Given the description of an element on the screen output the (x, y) to click on. 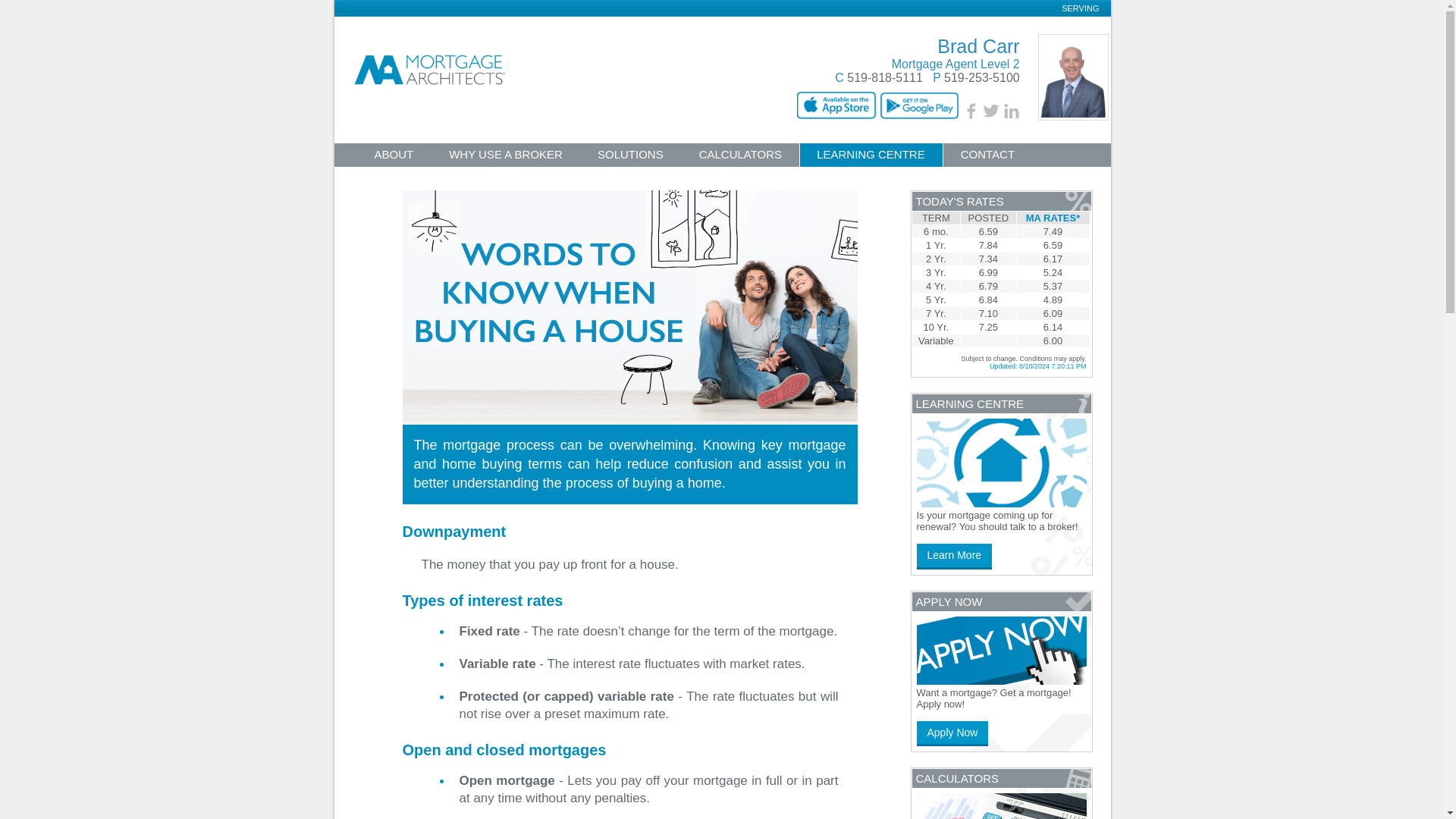
CONTACT (987, 157)
APPLY NOW (407, 180)
LEARNING CENTRE (871, 155)
SOLUTIONS (630, 157)
WHY USE A BROKER (504, 157)
ABOUT (393, 157)
CALCULATORS (740, 157)
